Given the description of an element on the screen output the (x, y) to click on. 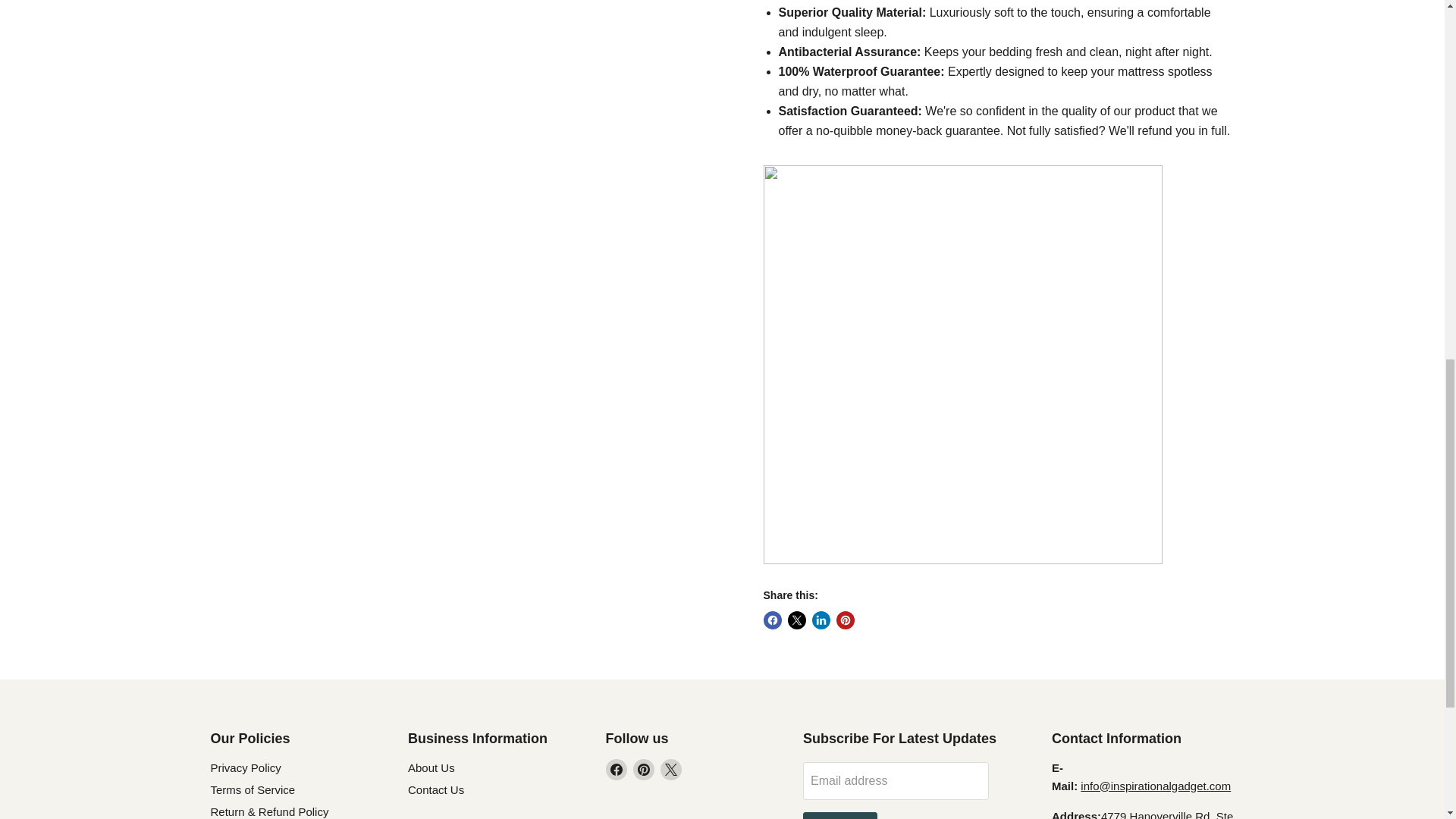
Facebook (615, 769)
Share on Facebook (771, 619)
Pinterest (642, 769)
Share on X (796, 619)
Privacy Policy (246, 767)
Share on LinkedIn (819, 619)
Terms of Service (253, 789)
Pin on Pinterest (844, 619)
X (670, 769)
